Given the description of an element on the screen output the (x, y) to click on. 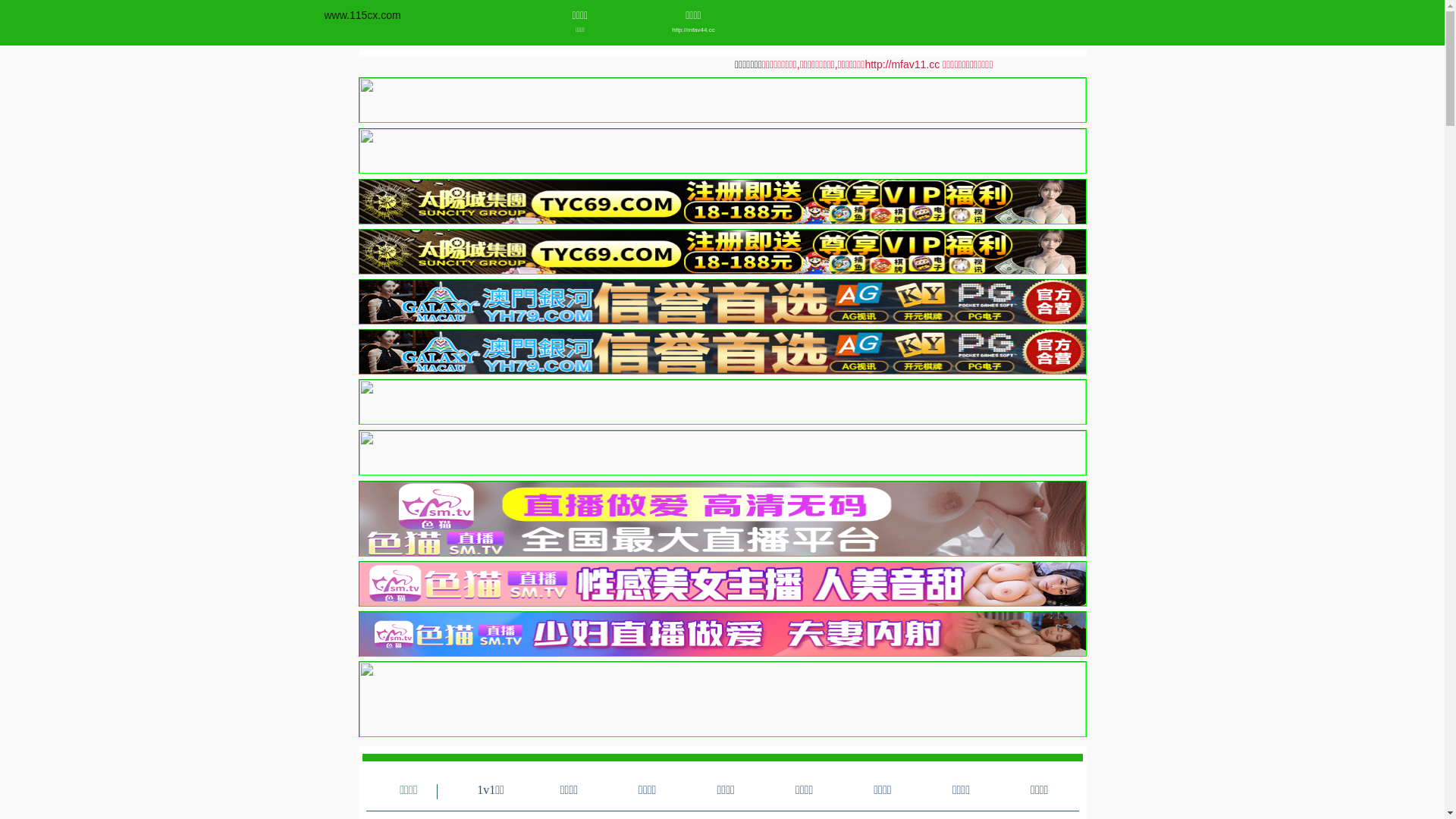
http://mfav44.cc Element type: text (693, 29)
www.115cx.com Element type: text (362, 15)
